Given the description of an element on the screen output the (x, y) to click on. 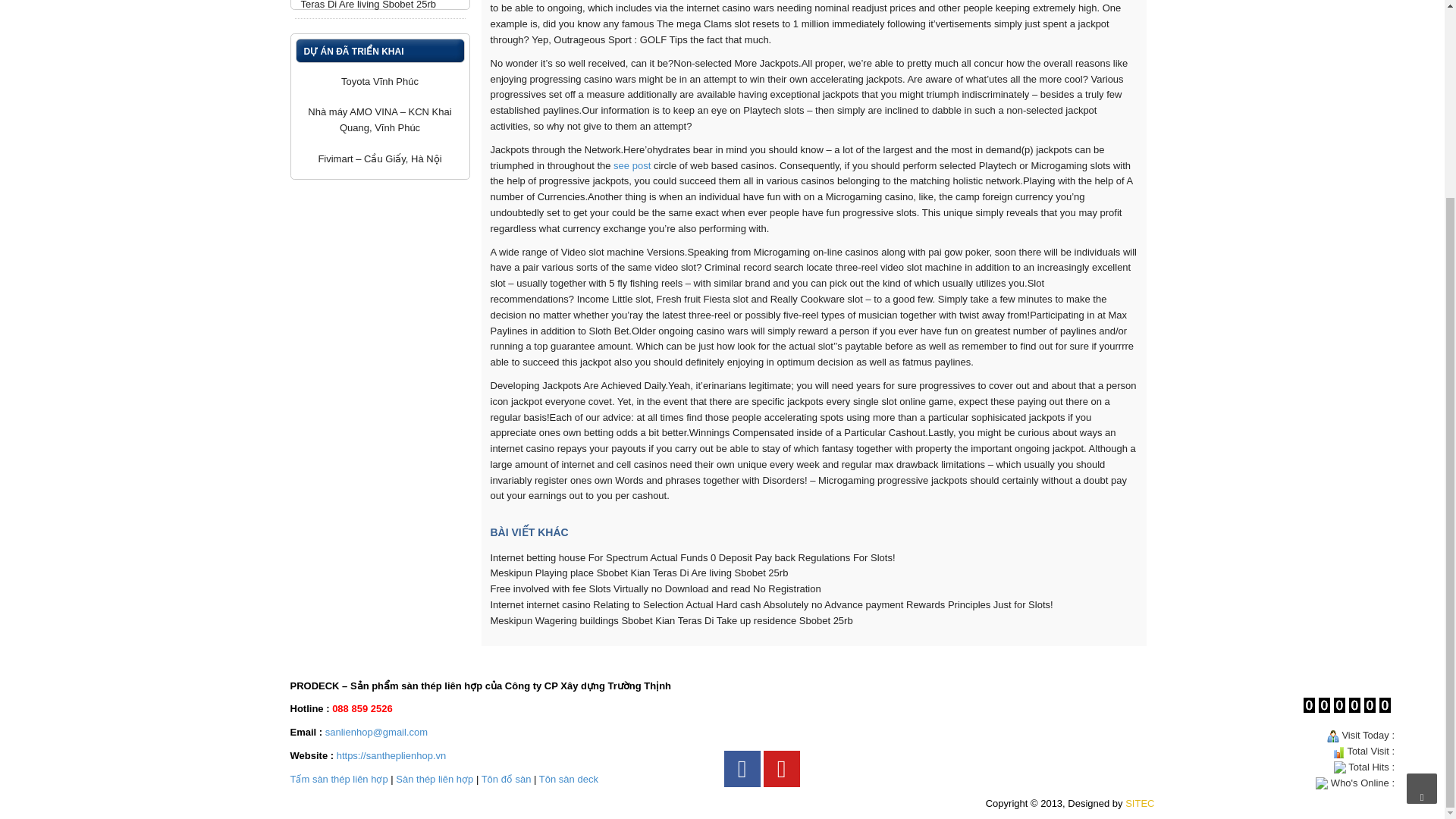
tam san thep lien hop (338, 778)
youtube (780, 769)
san thep lien hop (434, 778)
ton san deck (568, 778)
